Given the description of an element on the screen output the (x, y) to click on. 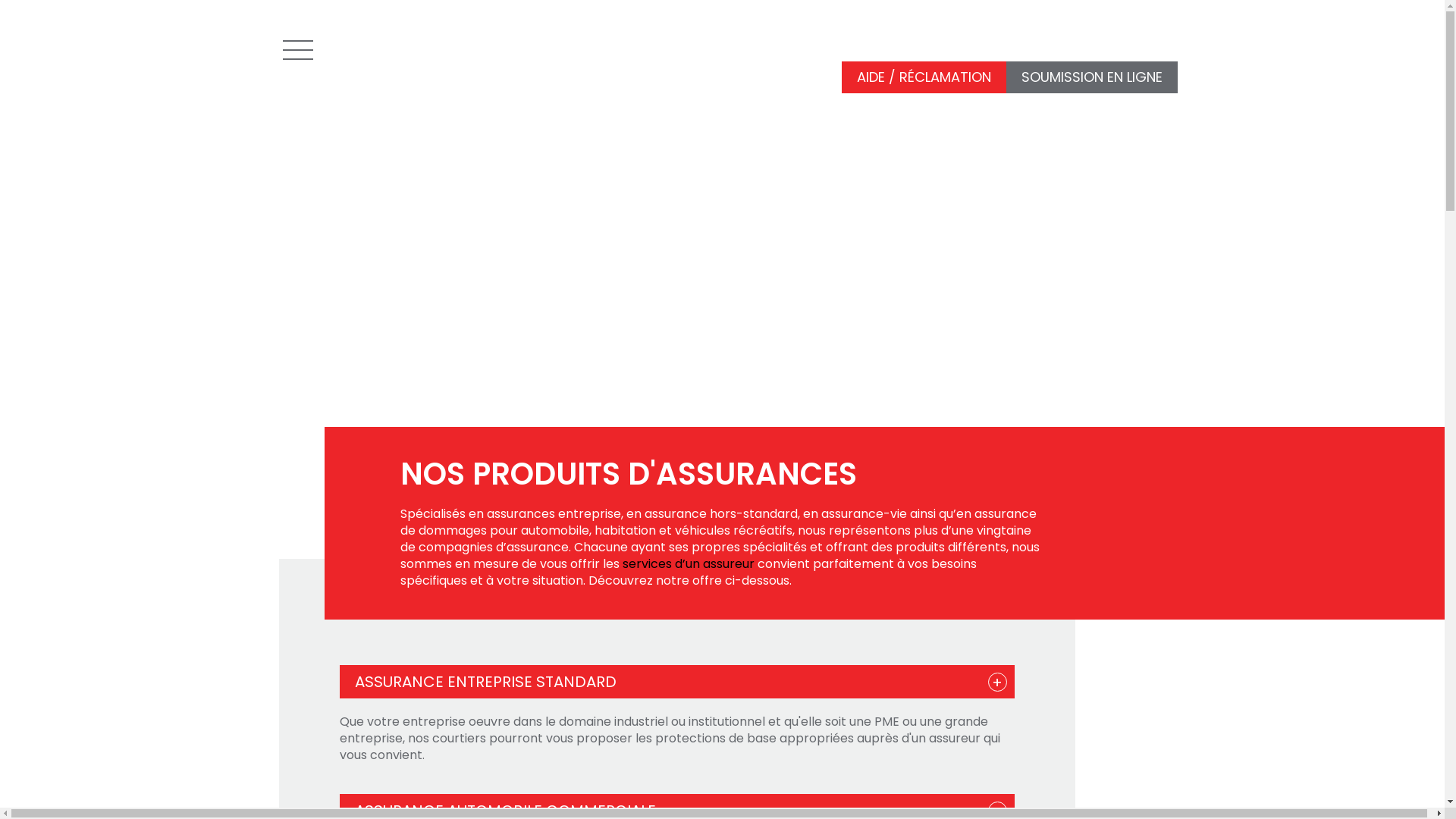
SOUMISSION EN LIGNE Element type: text (1090, 77)
450 373-7619 Element type: hover (1146, 29)
AssurExperts BMB Element type: hover (403, 45)
